Given the description of an element on the screen output the (x, y) to click on. 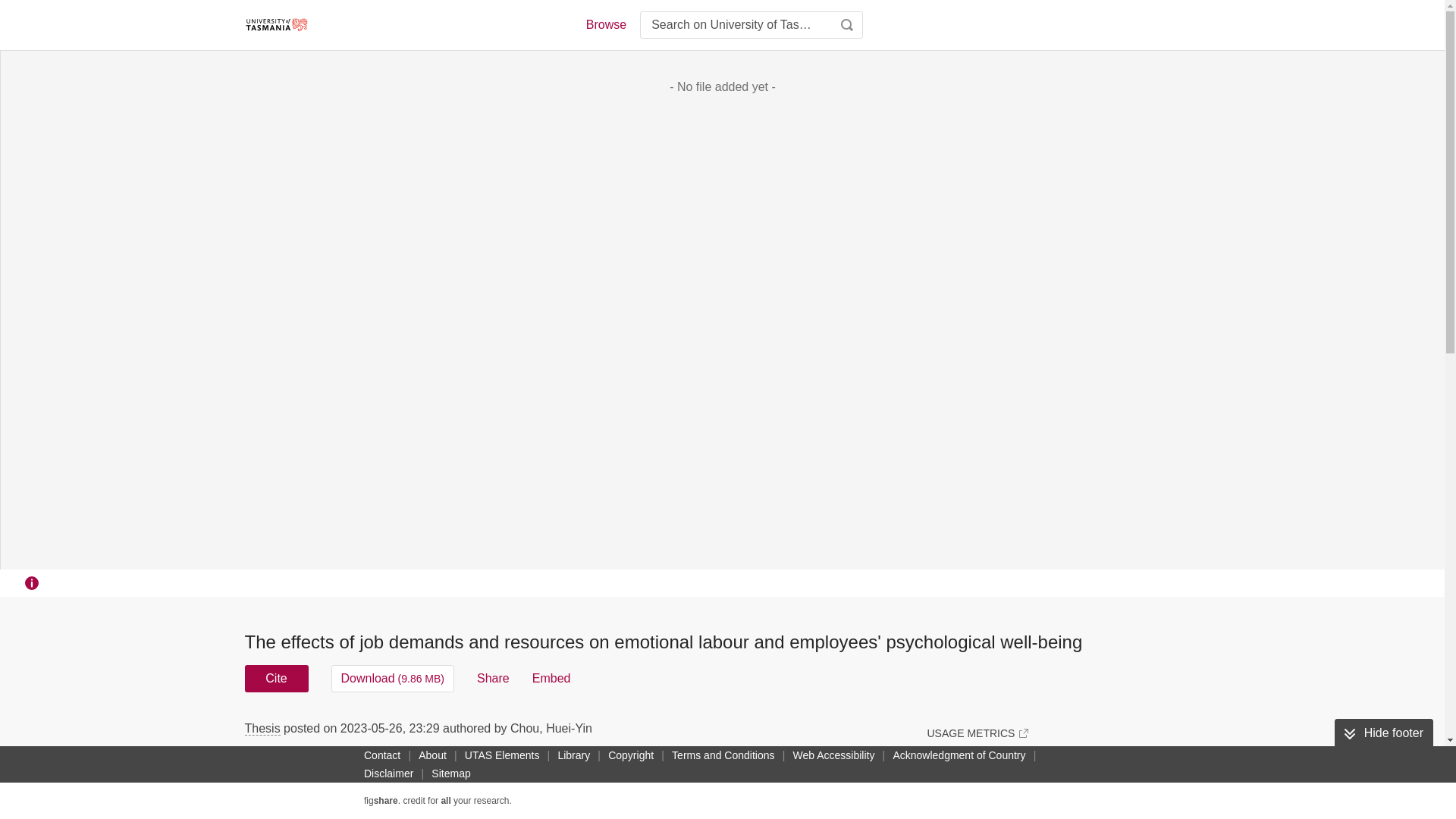
Copyright (631, 755)
Disclaimer (388, 773)
About (432, 755)
Hide footer (1383, 733)
Acknowledgment of Country (958, 755)
Contact (381, 755)
Web Accessibility (834, 755)
Library (573, 755)
USAGE METRICS (976, 732)
Browse (605, 24)
